Given the description of an element on the screen output the (x, y) to click on. 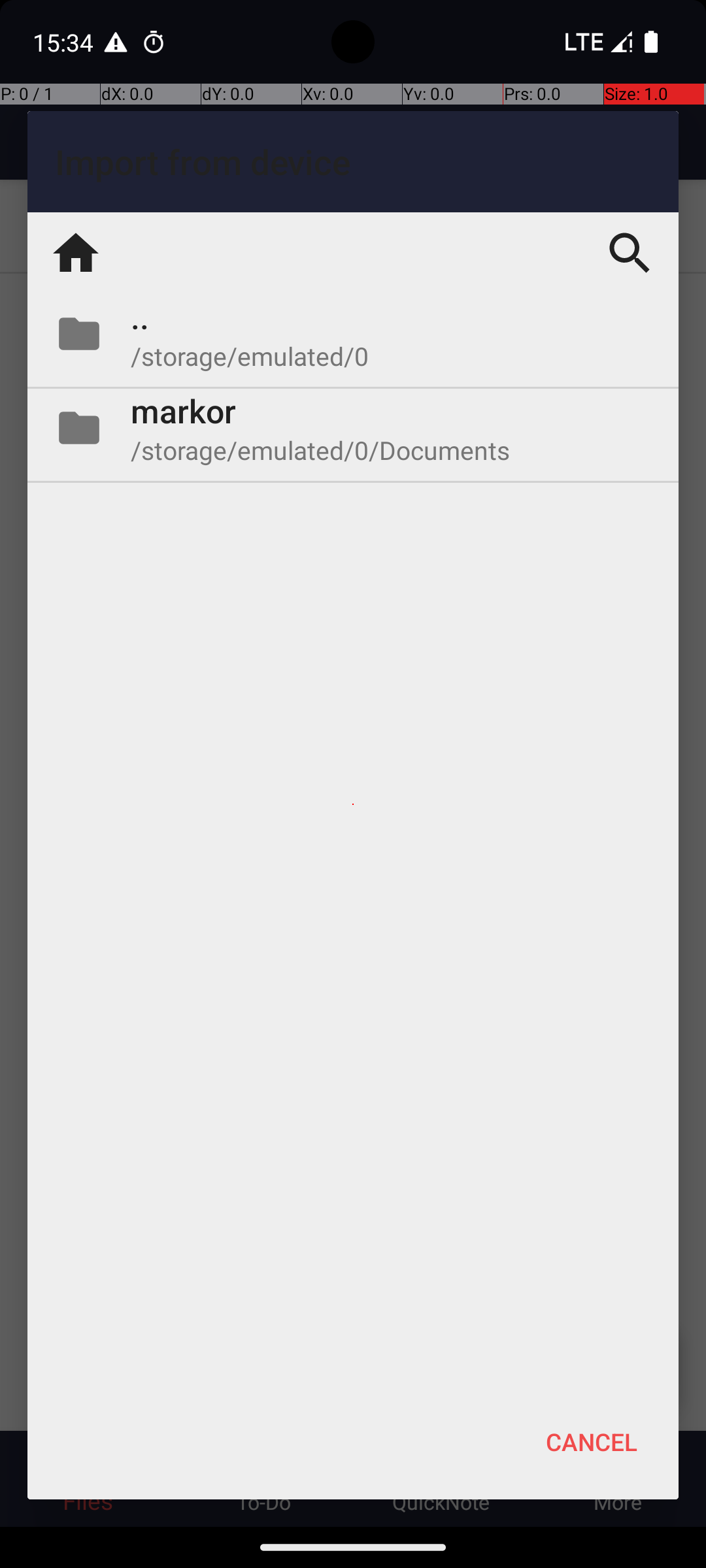
Import from device Element type: android.widget.TextView (352, 161)
Folder markor  Element type: android.widget.LinearLayout (352, 427)
